Given the description of an element on the screen output the (x, y) to click on. 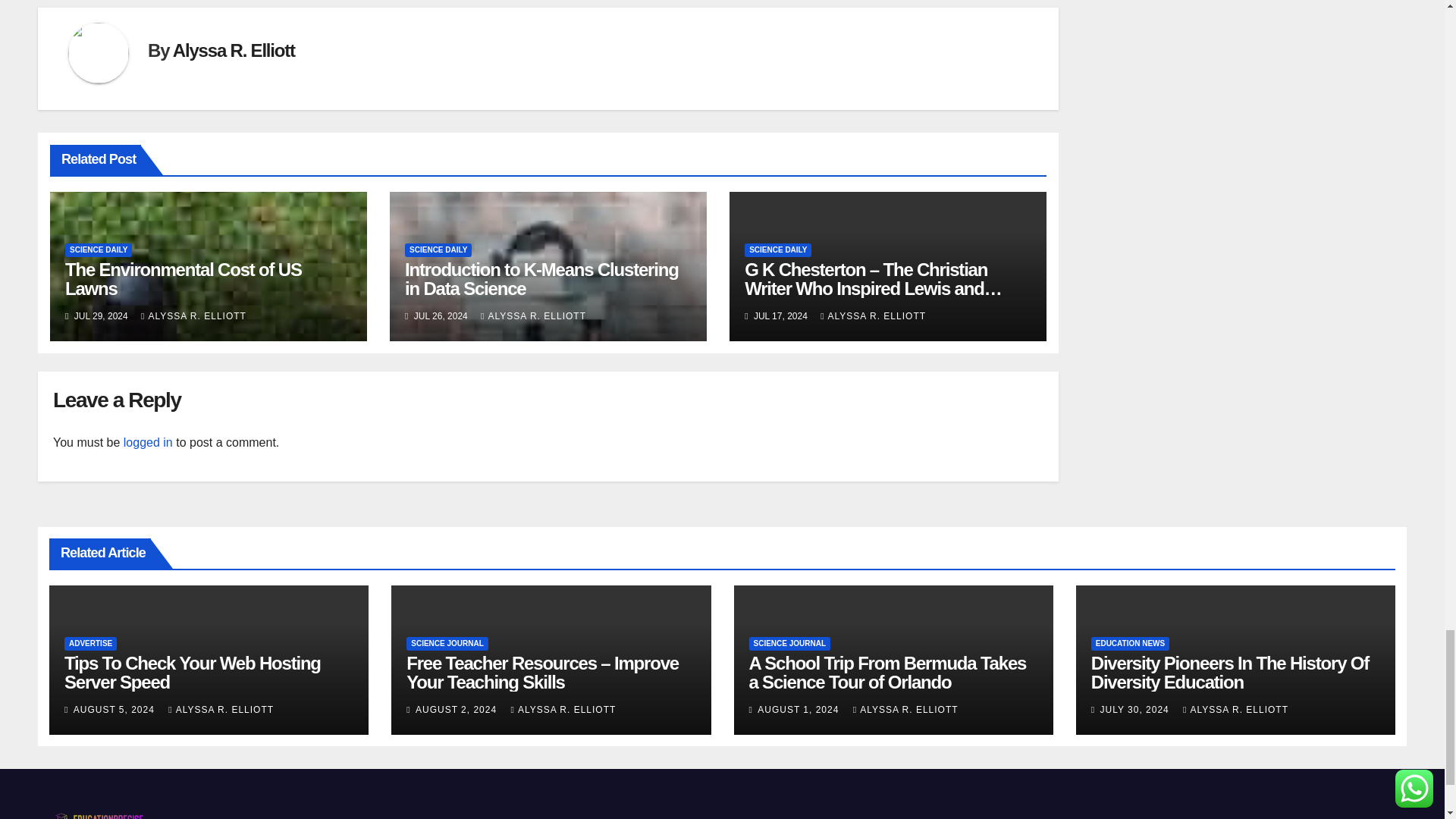
Alyssa R. Elliott (234, 50)
Permalink to: The Environmental Cost of US Lawns (183, 278)
SCIENCE DAILY (98, 250)
The Environmental Cost of US Lawns (183, 278)
